Given the description of an element on the screen output the (x, y) to click on. 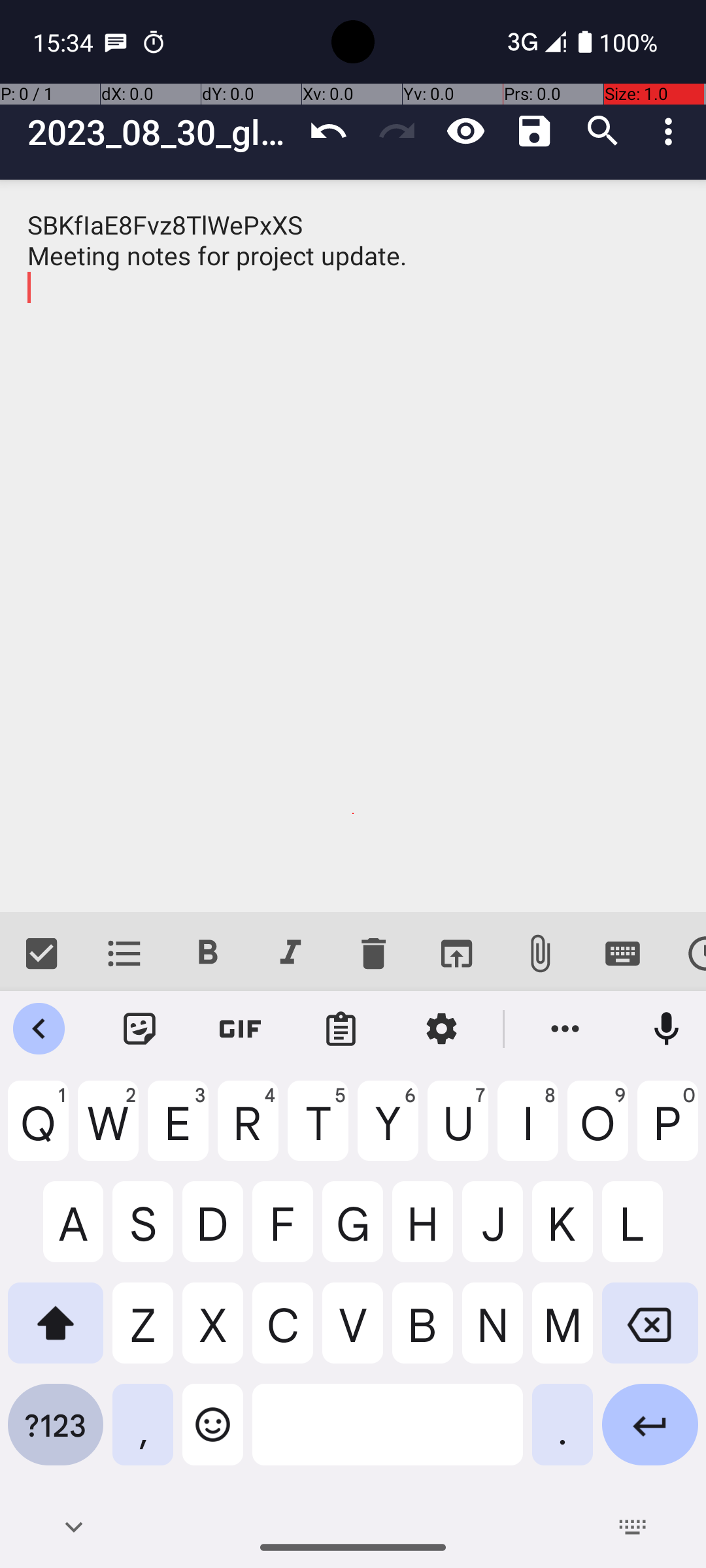
2023_08_30_glad_koala Element type: android.widget.TextView (160, 131)
SBKfIaE8Fvz8TlWePxXS
Meeting notes for project update.
 Element type: android.widget.EditText (353, 545)
